Given the description of an element on the screen output the (x, y) to click on. 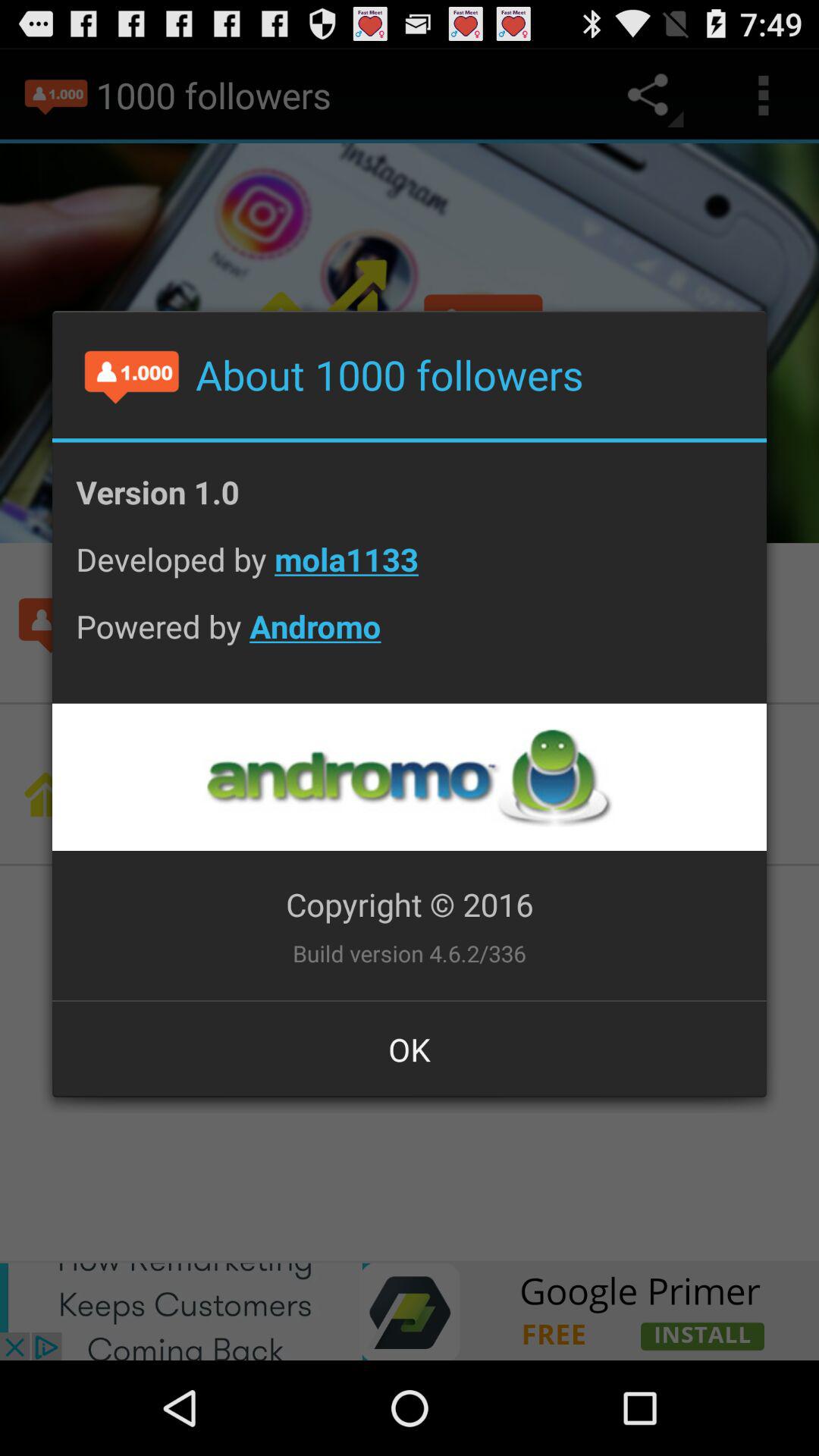
turn on the button at the bottom (409, 1049)
